Given the description of an element on the screen output the (x, y) to click on. 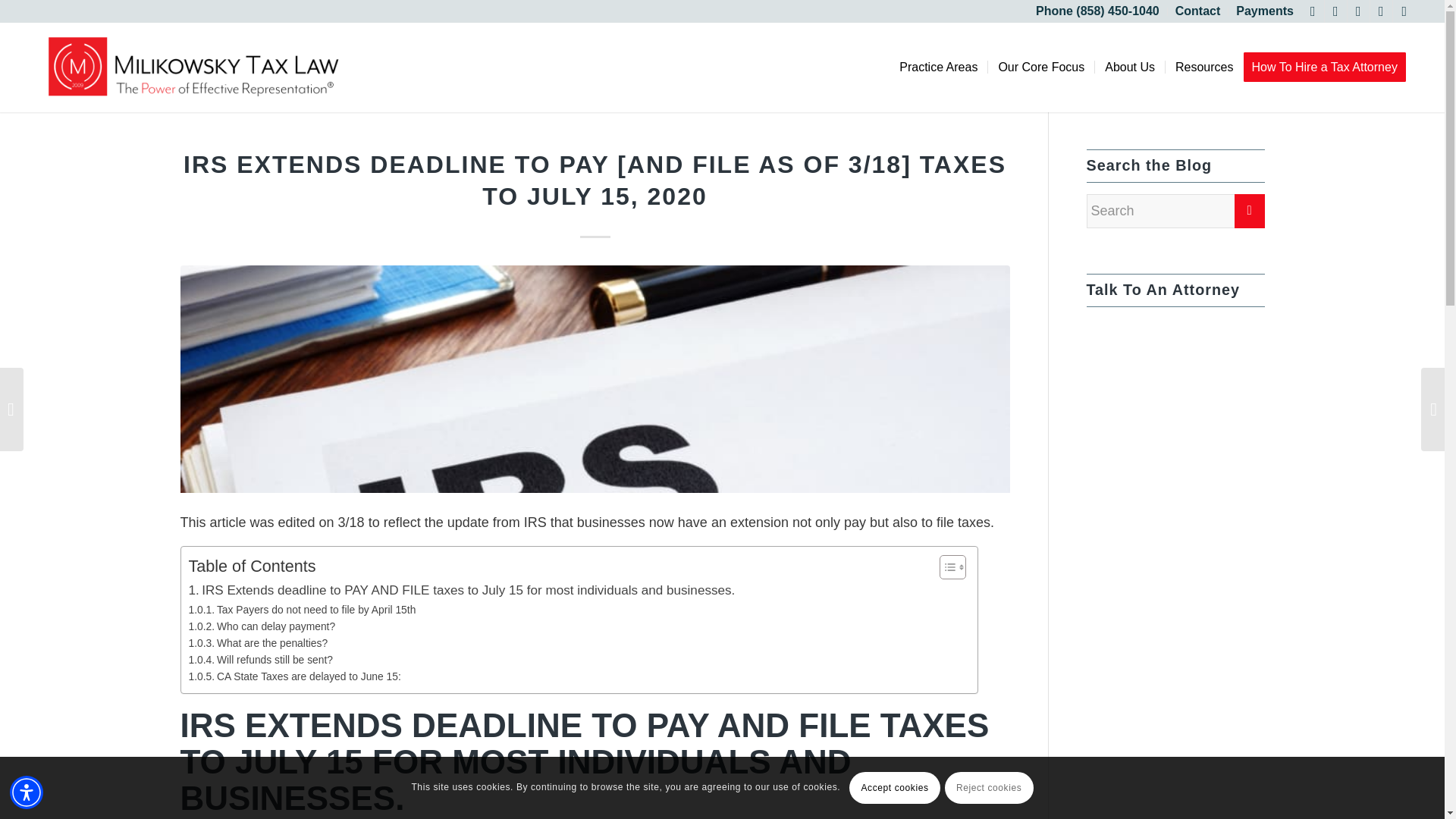
What are the penalties? (257, 642)
Who can delay payment? (260, 626)
Tax Payers do not need to file by April 15th (300, 609)
CA State Taxes are delayed to June 15: (293, 676)
Accessibility Menu (26, 792)
Payments (1265, 11)
Contact (1197, 11)
Will refunds still be sent? (260, 659)
Our Core Focus (1040, 67)
How To Hire a Tax Attorney (1329, 67)
Practice Areas (938, 67)
